Given the description of an element on the screen output the (x, y) to click on. 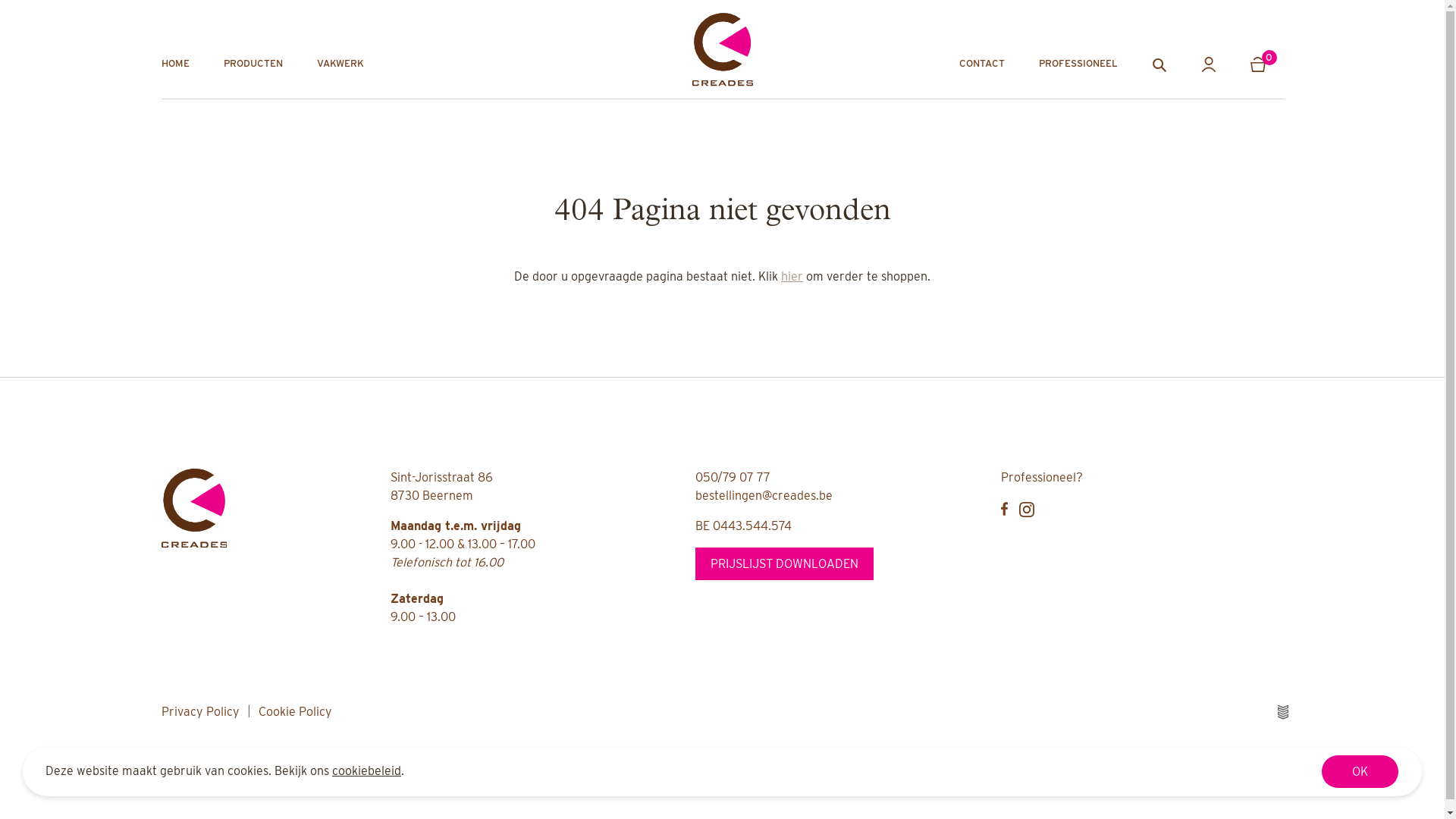
Privacy Policy Element type: text (199, 711)
CONTACT Element type: text (981, 63)
VAKWERK Element type: text (340, 63)
050/79 07 77 Element type: text (732, 477)
PRIJSLIJST DOWNLOADEN Element type: text (784, 563)
OK Element type: text (1360, 771)
WINKELWAGENTJE
0 Element type: text (1266, 63)
Professioneel? Element type: text (1041, 477)
hier Element type: text (792, 276)
Volg ons op Instagram Element type: text (1026, 509)
Sint-Jorisstraat 86 Element type: text (440, 477)
bestellingen@creades.be Element type: text (763, 495)
AANMELDEN Element type: text (1208, 63)
cookiebeleid Element type: text (366, 770)
Cookie Policy Element type: text (294, 711)
HOME Element type: text (174, 63)
Site by Esign Element type: text (1283, 711)
PRODUCTEN Element type: text (252, 63)
8730 Beernem Element type: text (430, 495)
PROFESSIONEEL Element type: text (1077, 63)
Volg ons op Facebook Element type: text (1004, 508)
TRANSLATION MISSING: NL.LAYOUT.SEARCH.TITLE Element type: text (1158, 63)
